Given the description of an element on the screen output the (x, y) to click on. 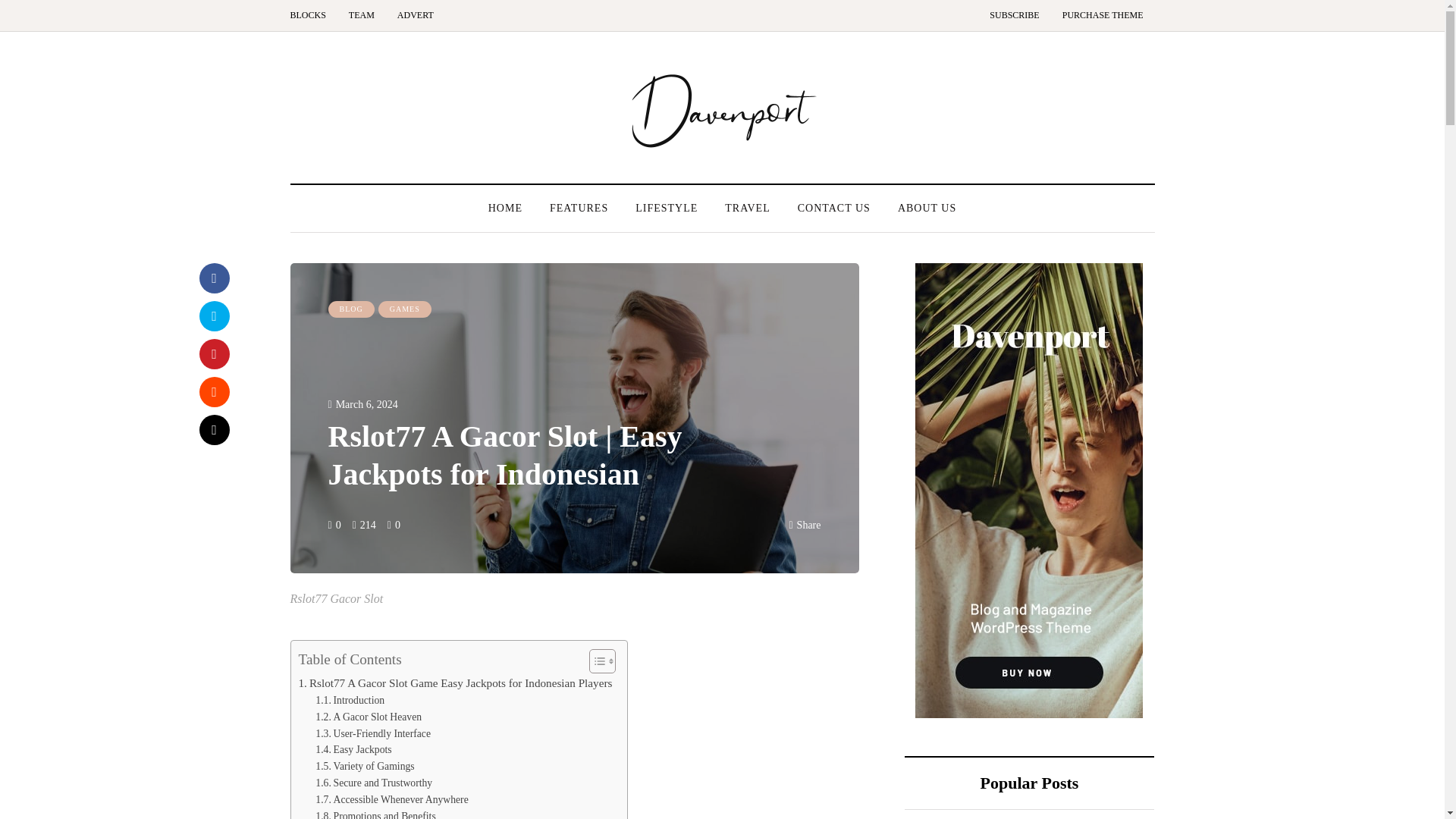
BLOCKS (312, 15)
TEAM (361, 15)
PURCHASE THEME (1102, 15)
SUBSCRIBE (1013, 15)
HOME (504, 208)
